Given the description of an element on the screen output the (x, y) to click on. 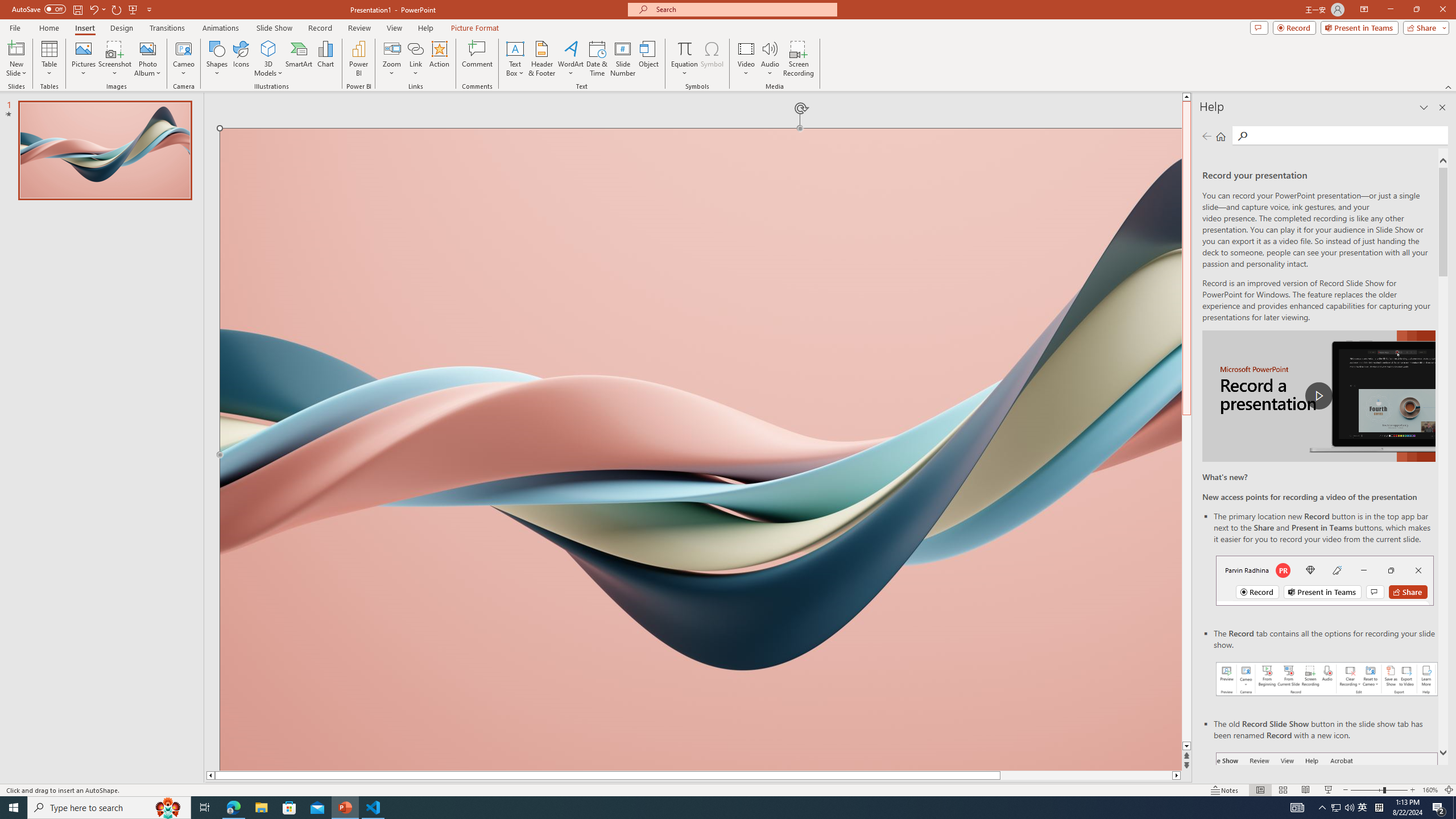
Link (415, 48)
Wavy 3D art (700, 449)
Picture Format (475, 28)
Symbol... (711, 58)
Table (49, 58)
Slide Number (622, 58)
Video (745, 58)
